Given the description of an element on the screen output the (x, y) to click on. 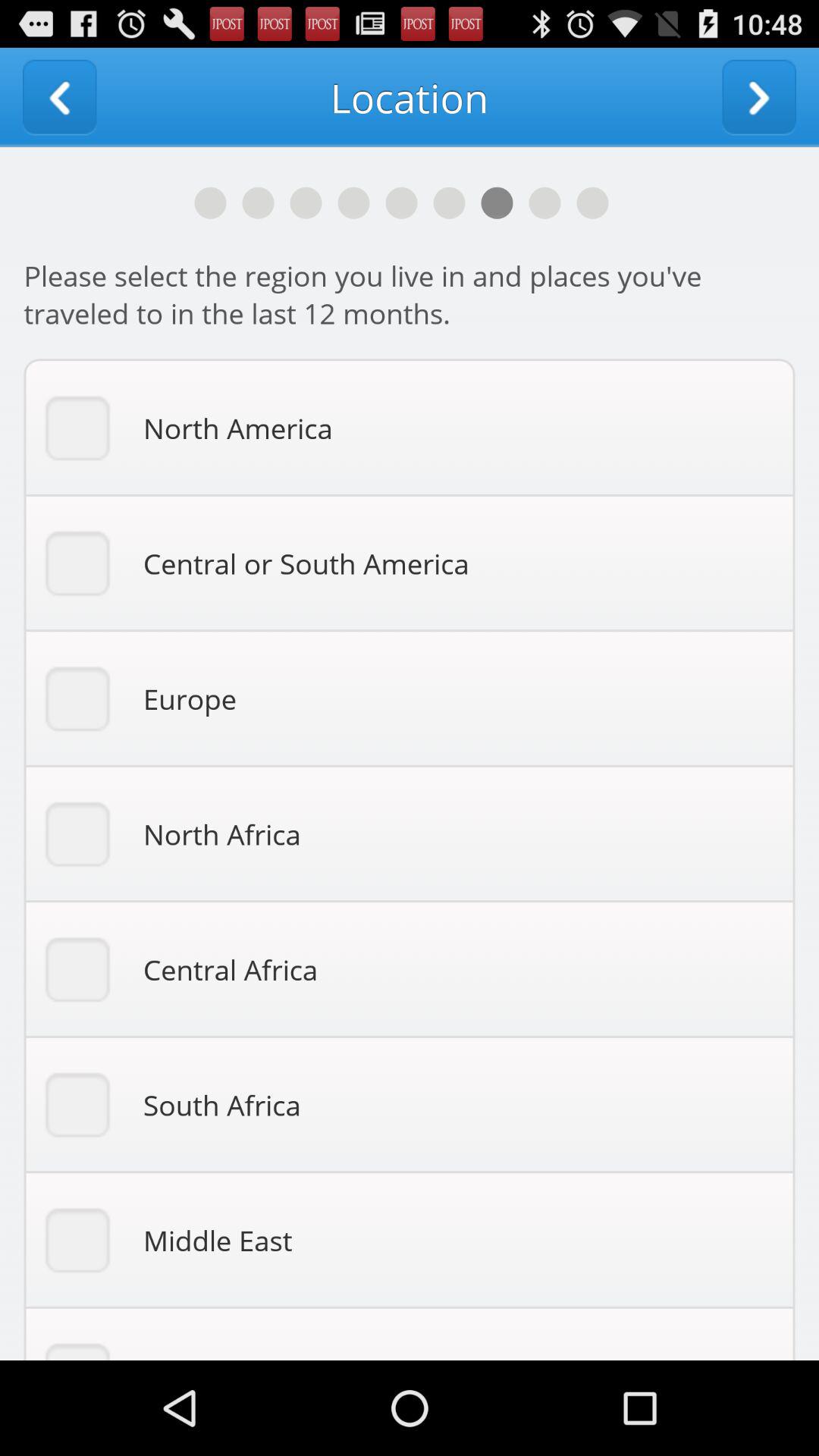
go forward (759, 97)
